Given the description of an element on the screen output the (x, y) to click on. 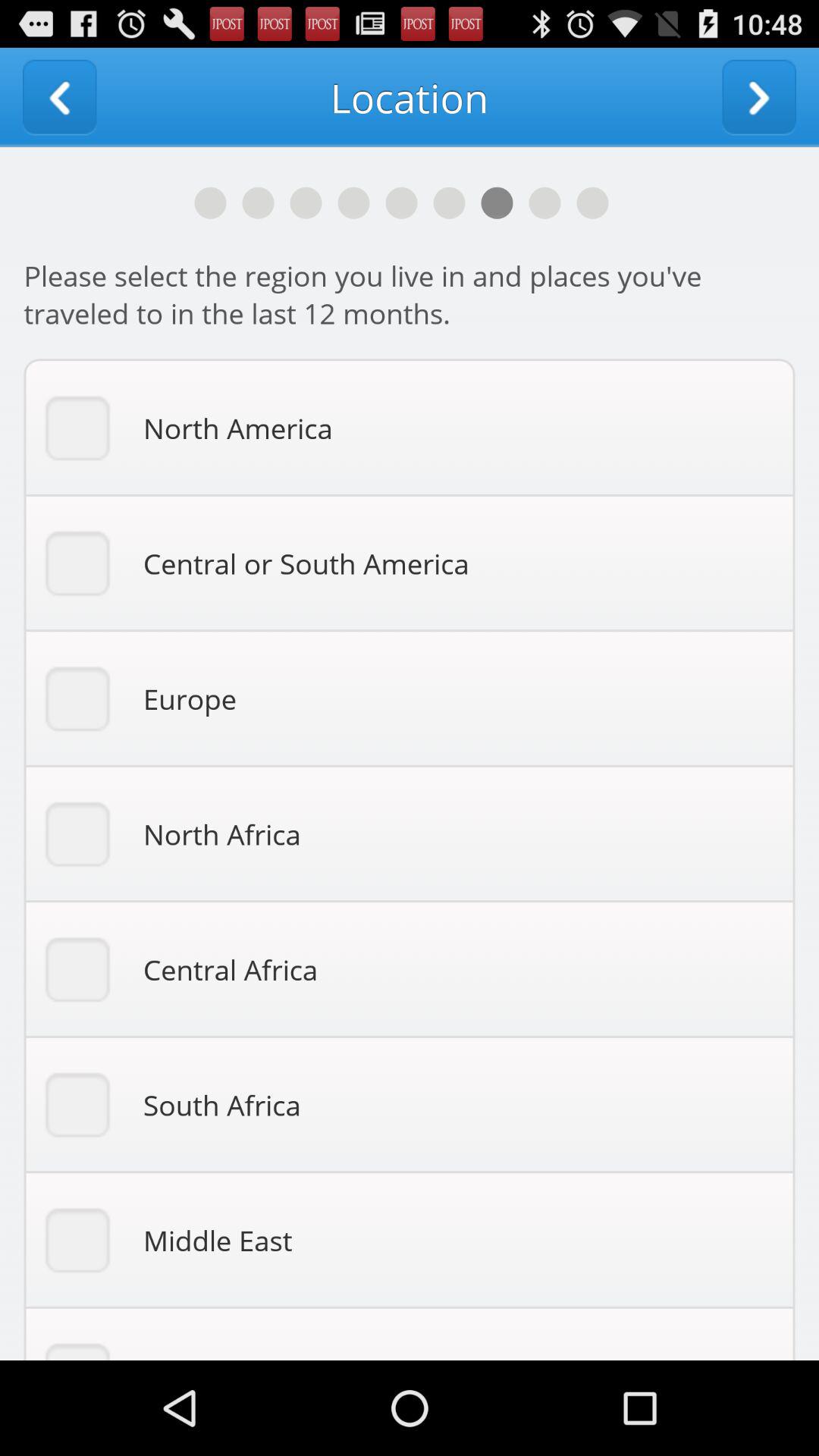
go forward (759, 97)
